Given the description of an element on the screen output the (x, y) to click on. 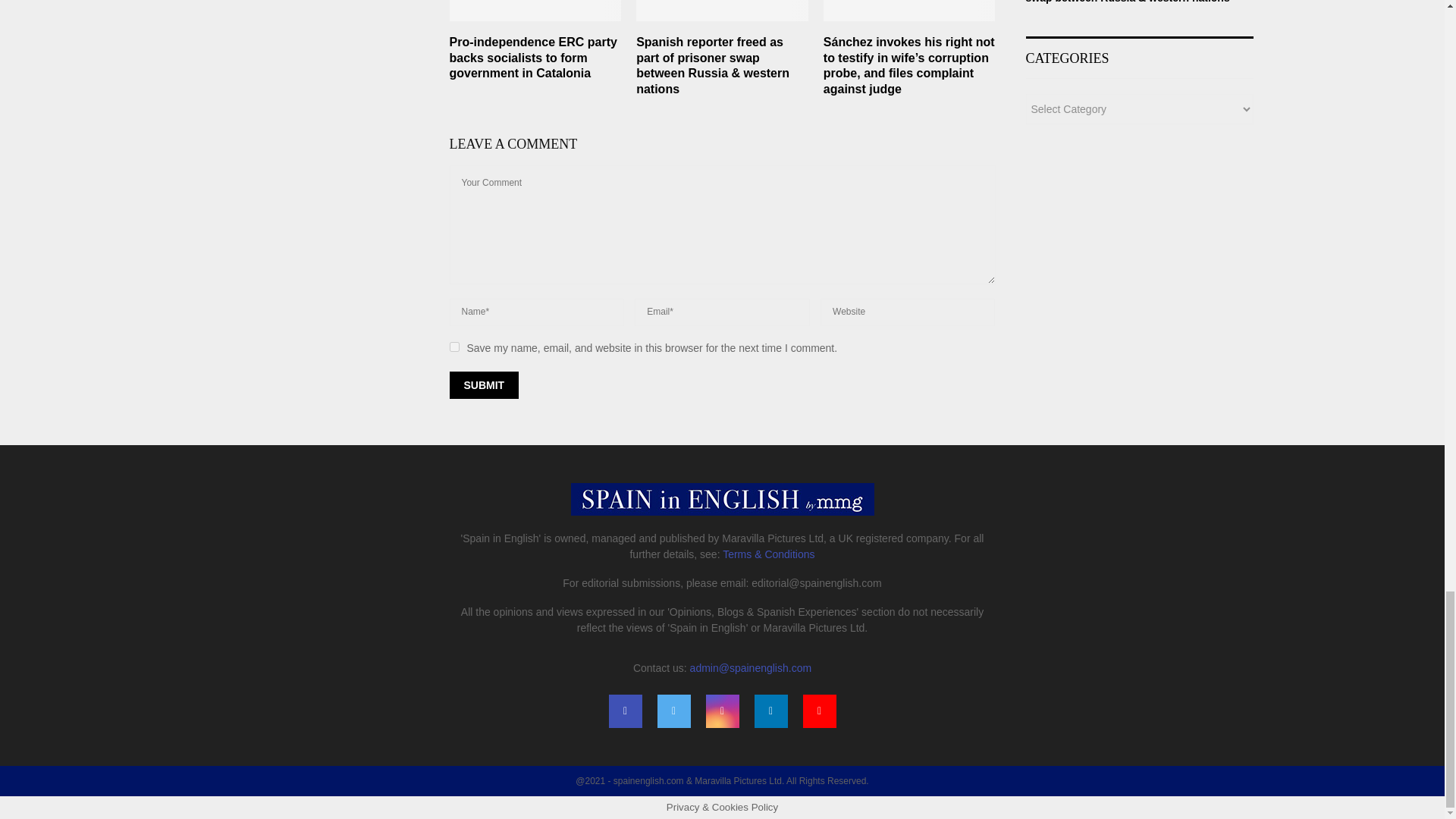
yes (453, 347)
Submit (483, 384)
Instagram (721, 711)
Facebook (625, 711)
Linkedin (770, 711)
Twitter (673, 711)
